Given the description of an element on the screen output the (x, y) to click on. 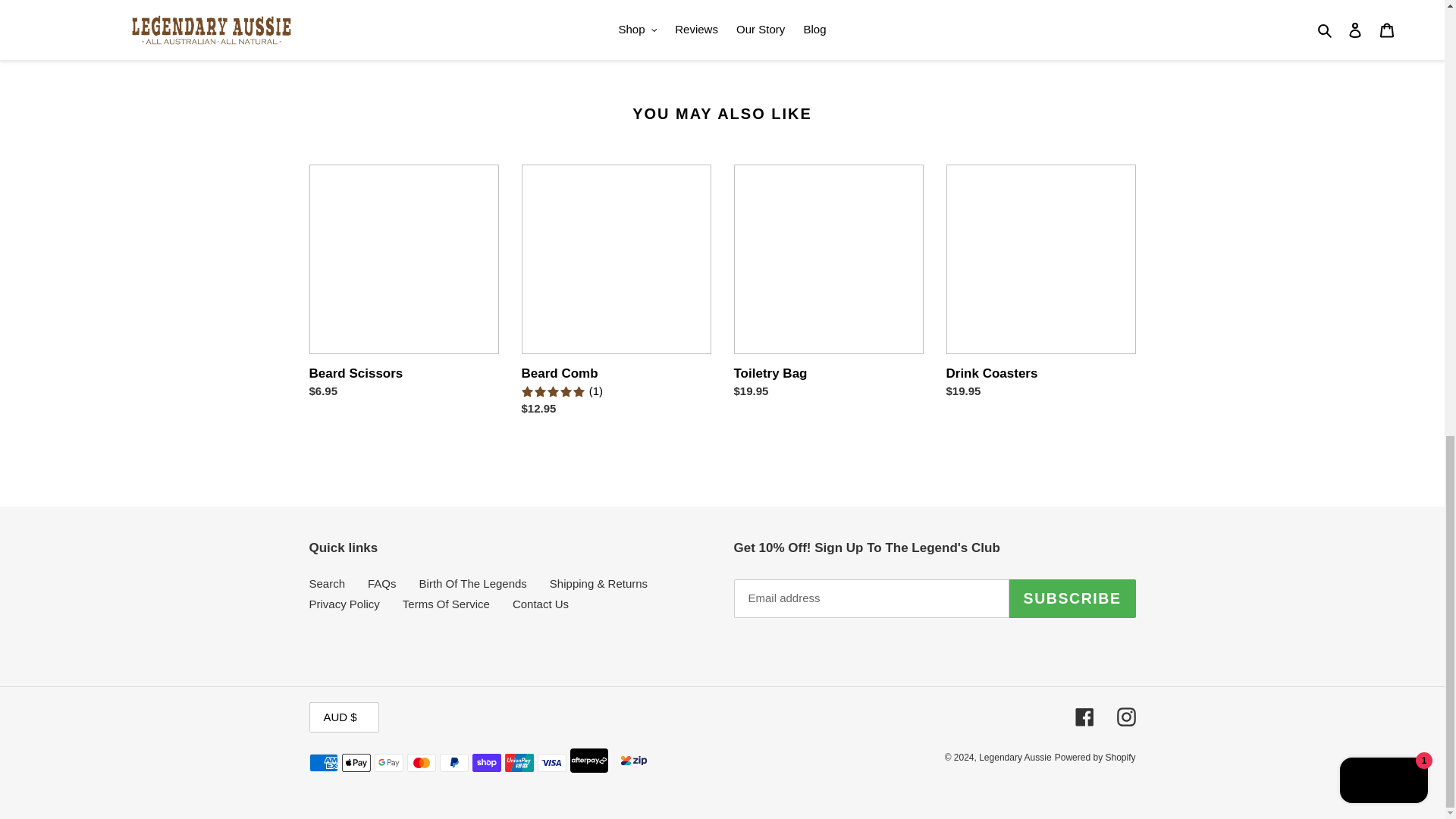
American Express (322, 762)
Product reviews widget (721, 31)
Apple Pay (354, 762)
